Given the description of an element on the screen output the (x, y) to click on. 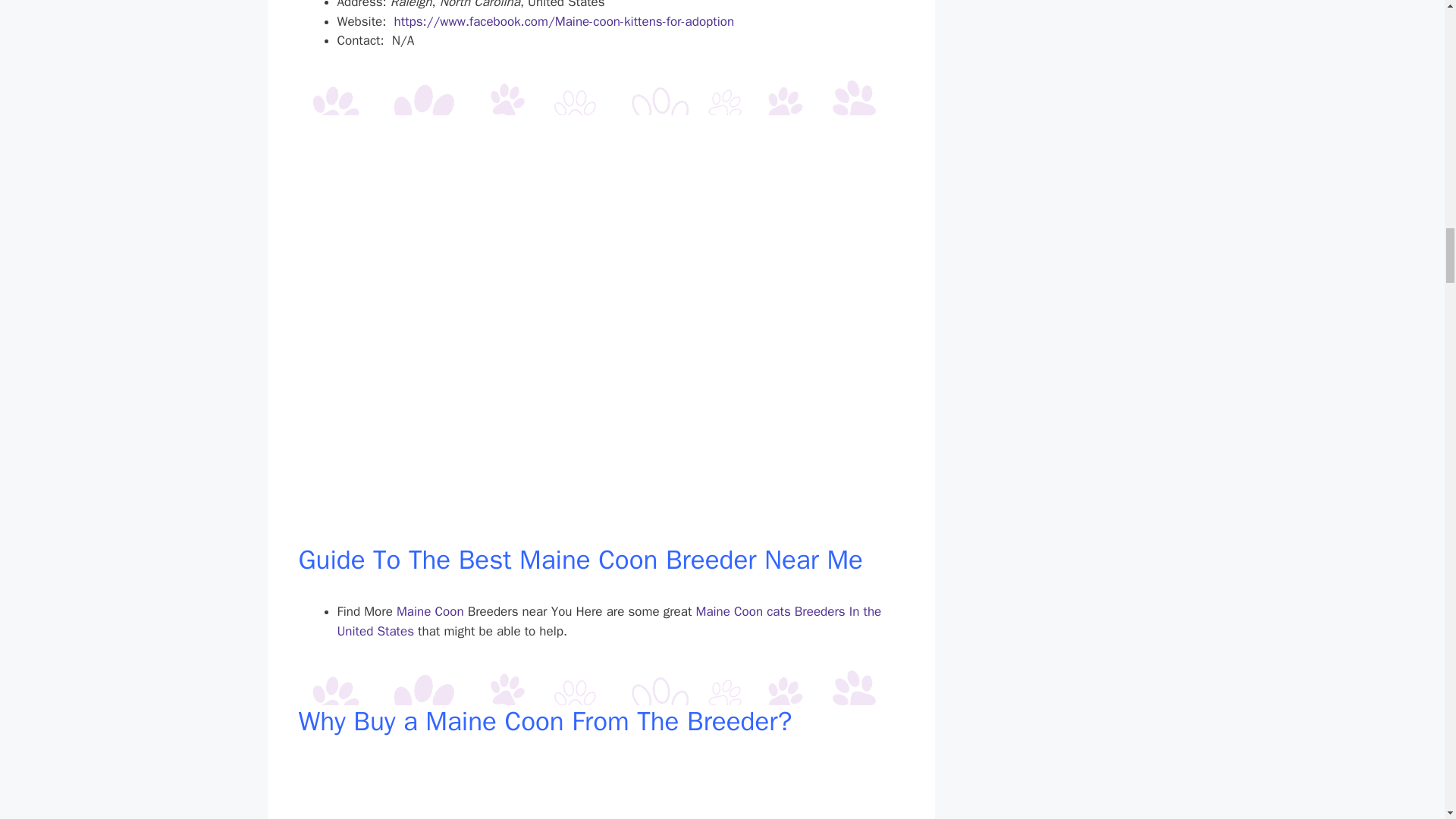
Maine Coon (430, 611)
Maine Coon cats Breeders In the United States (608, 621)
